Given the description of an element on the screen output the (x, y) to click on. 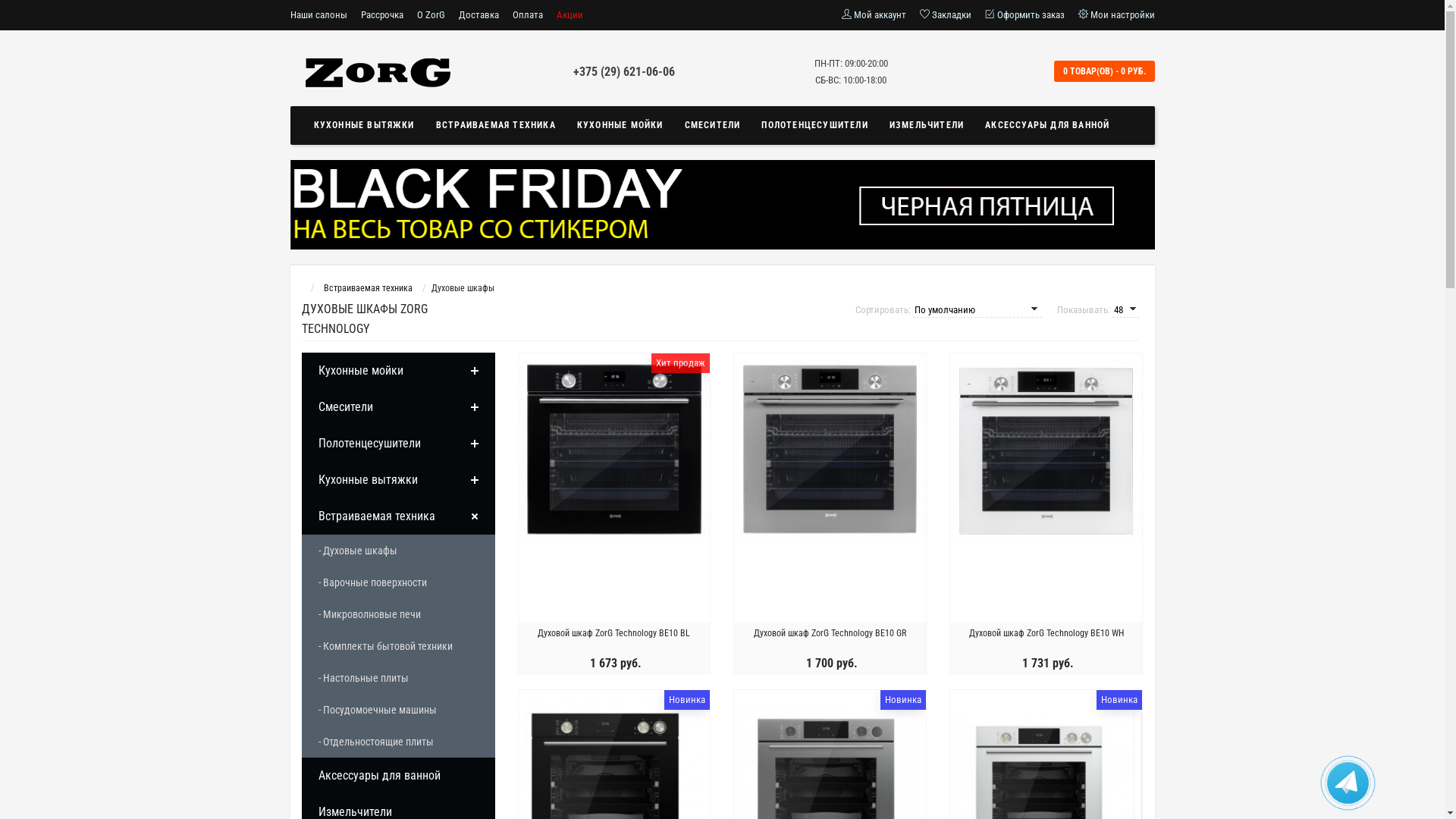
+375 (29) 621-06-06 Element type: text (623, 71)
--- Element type: hover (721, 204)
